Given the description of an element on the screen output the (x, y) to click on. 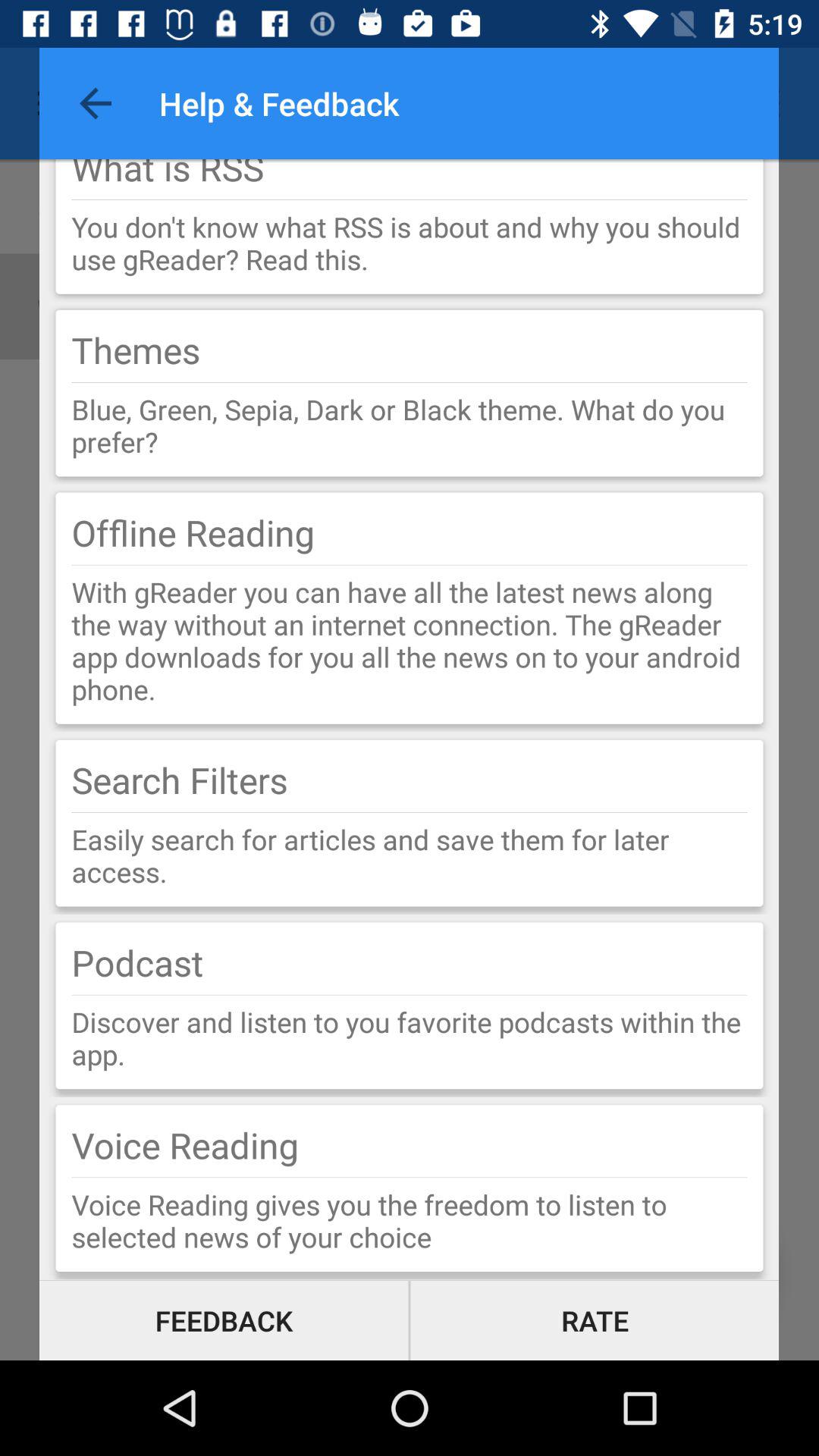
click blue green sepia icon (409, 425)
